Given the description of an element on the screen output the (x, y) to click on. 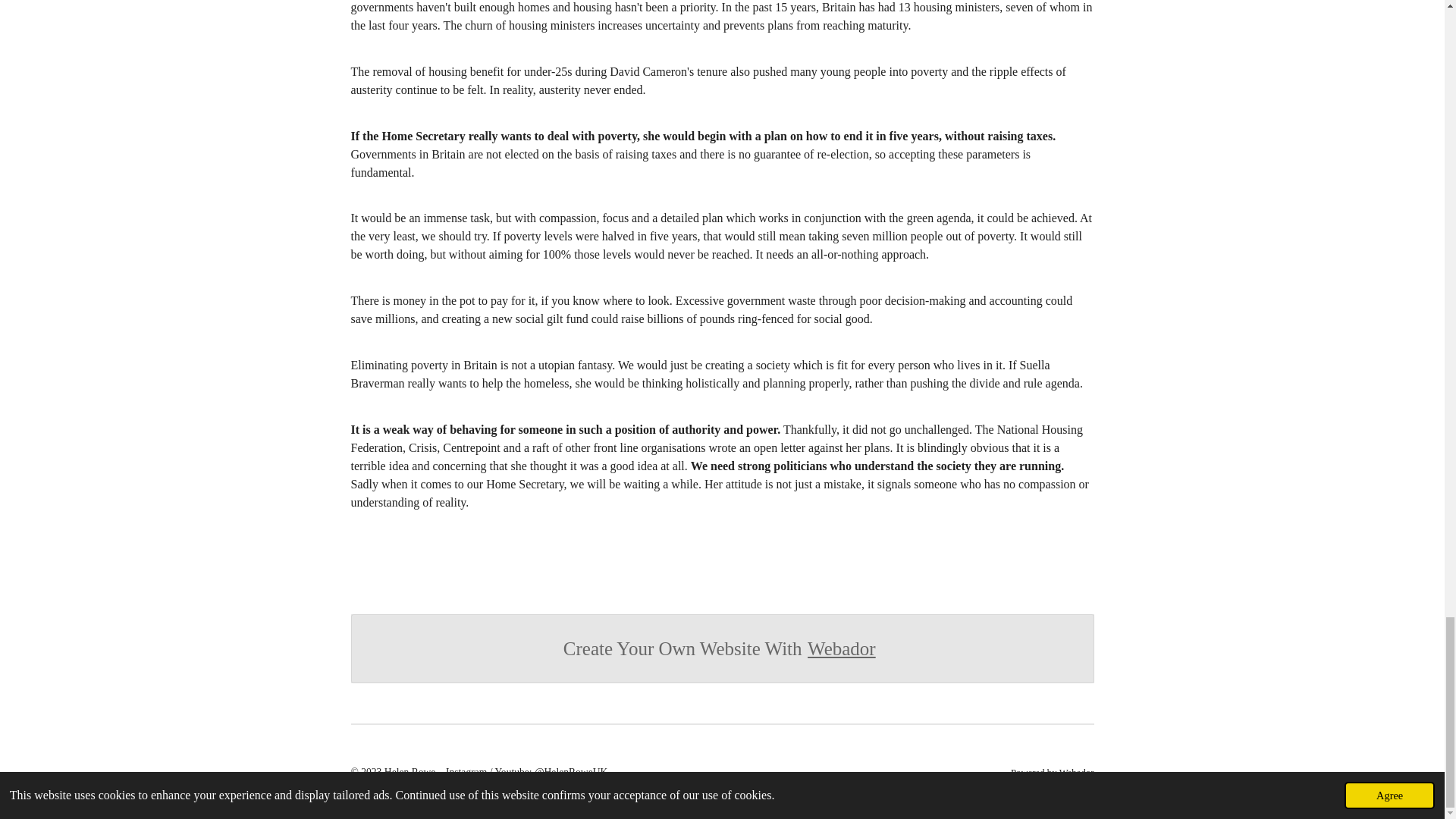
Webador (1076, 772)
Webador (842, 649)
